Given the description of an element on the screen output the (x, y) to click on. 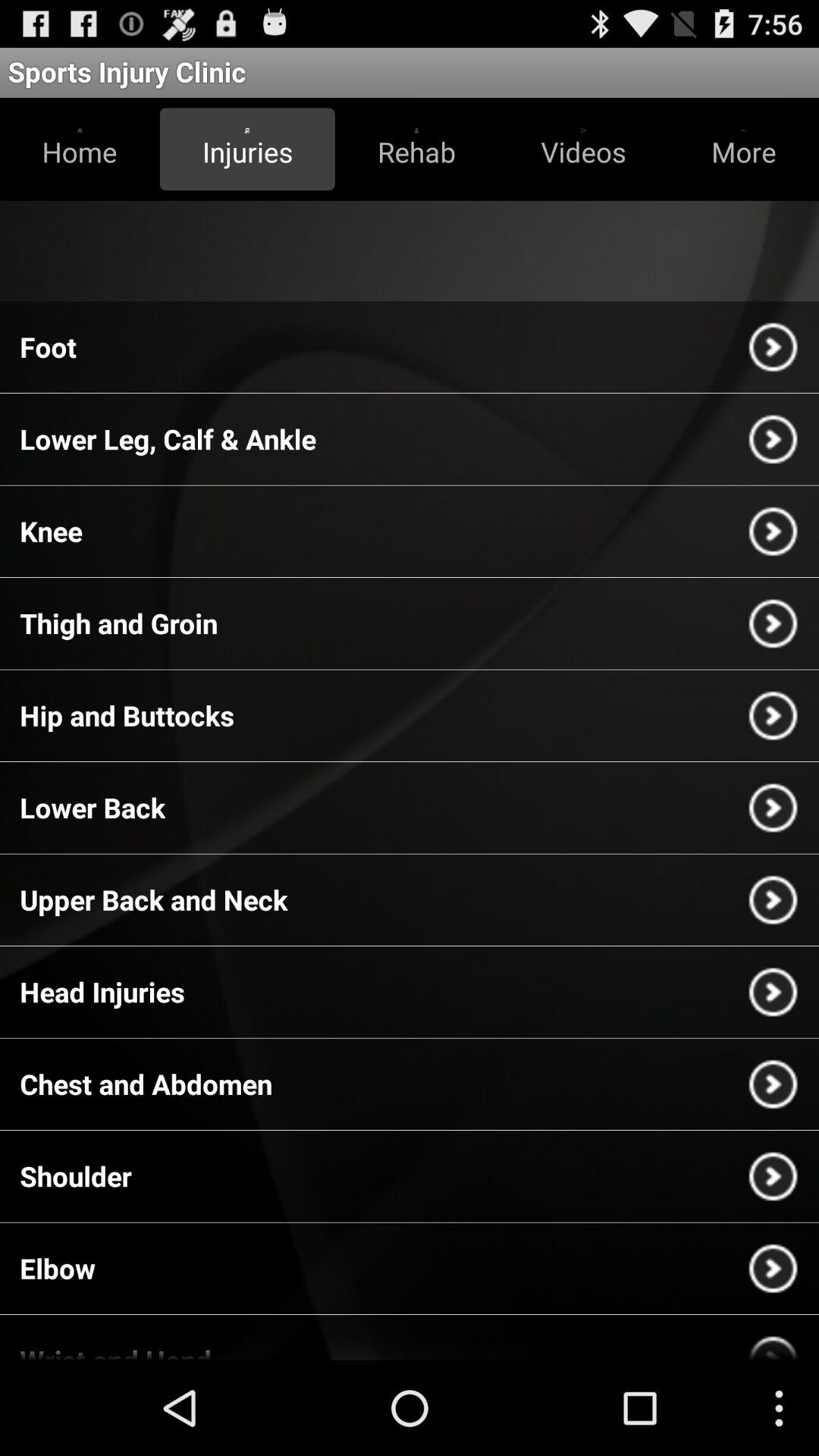
open the icon above upper back and app (92, 807)
